Given the description of an element on the screen output the (x, y) to click on. 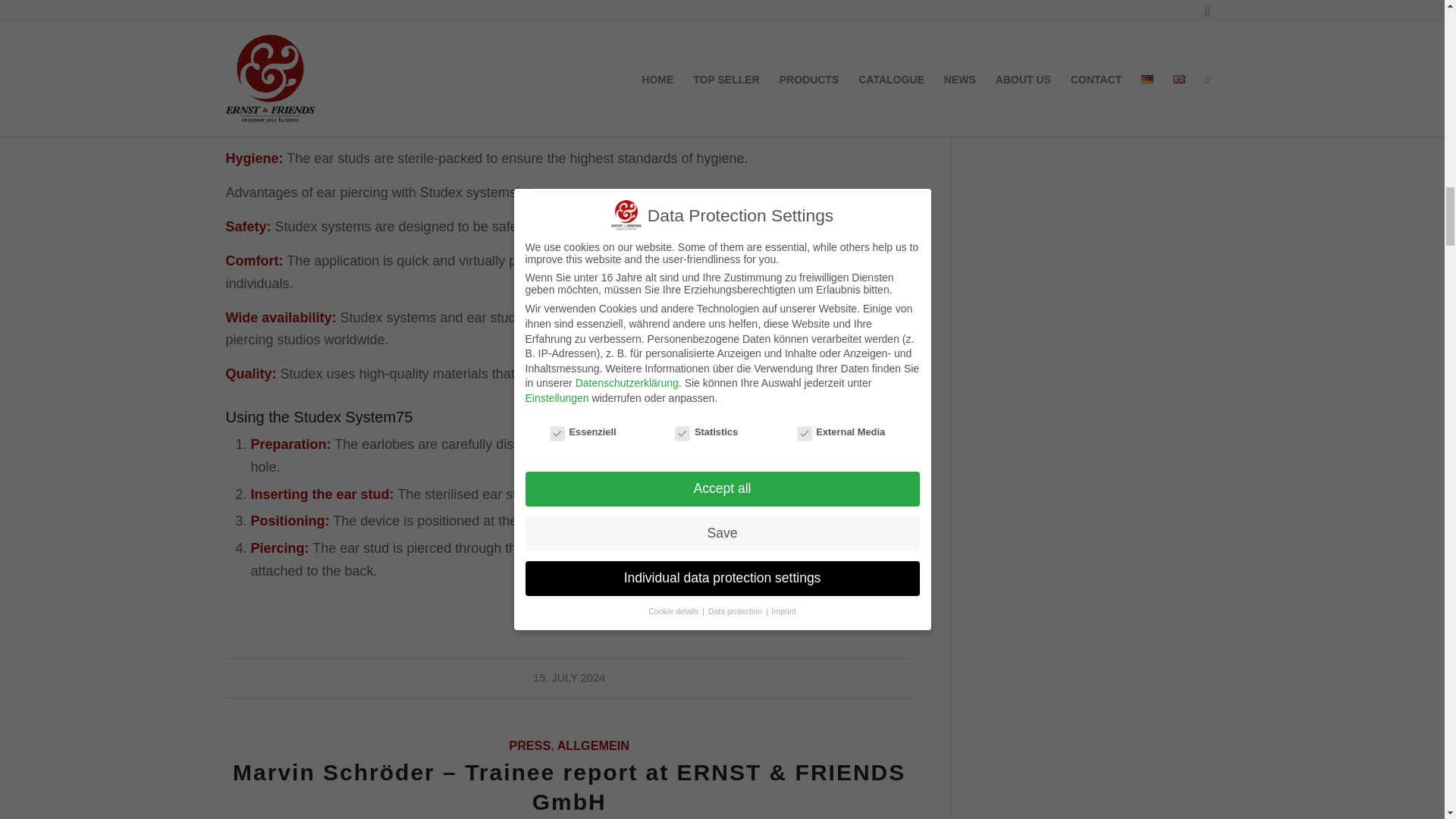
PRESS (529, 745)
ALLGEMEIN (592, 745)
